Given the description of an element on the screen output the (x, y) to click on. 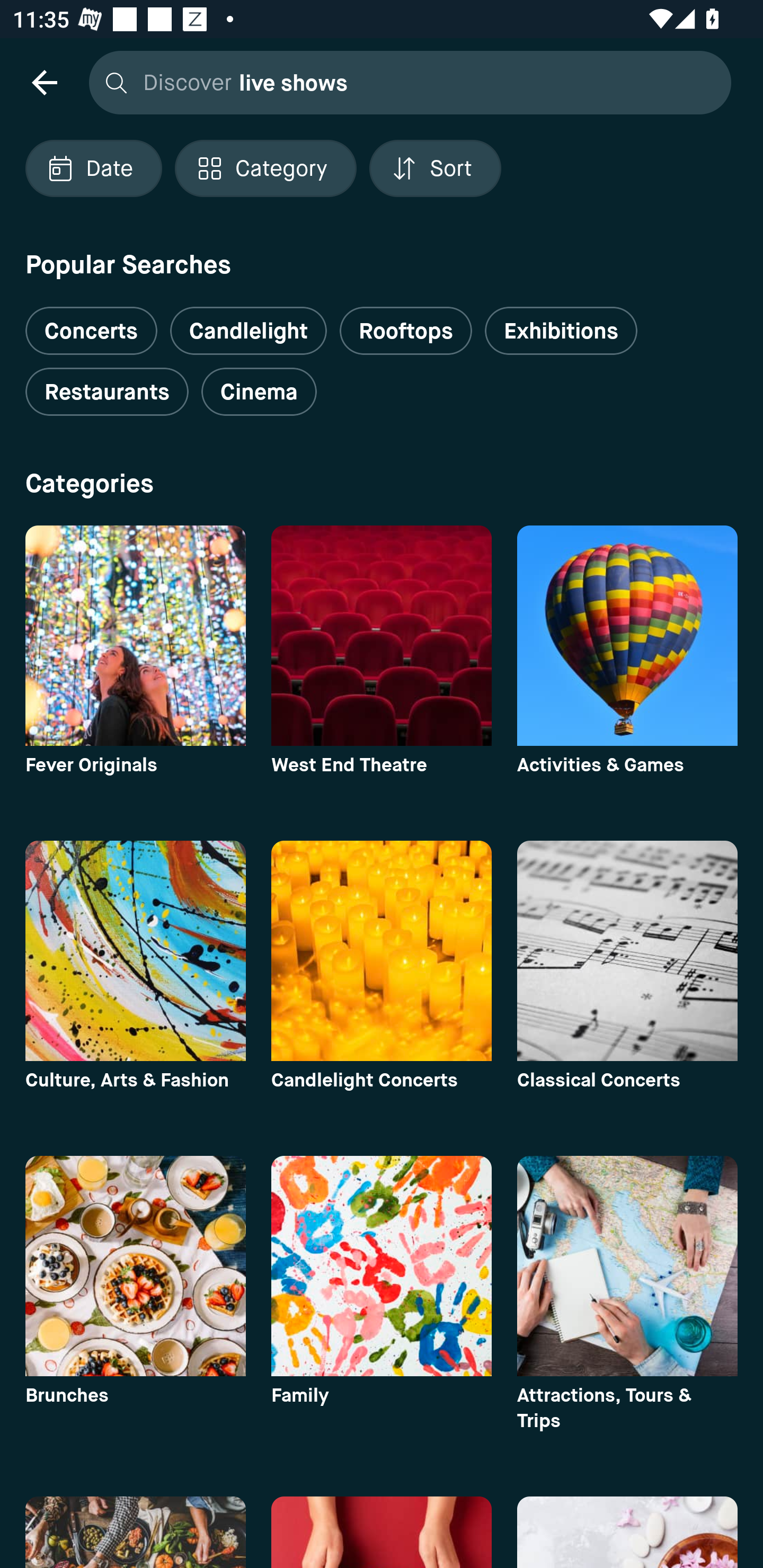
navigation icon (44, 81)
Discover live shows (405, 81)
Localized description Date (93, 168)
Localized description Category (265, 168)
Localized description Sort (435, 168)
Concerts (91, 323)
Candlelight (248, 330)
Rooftops (405, 330)
Exhibitions (560, 330)
Restaurants (106, 391)
Cinema (258, 391)
category image (135, 635)
category image (381, 635)
category image (627, 635)
category image (135, 950)
category image (381, 950)
category image (627, 950)
category image (135, 1265)
category image (381, 1265)
category image (627, 1265)
